Given the description of an element on the screen output the (x, y) to click on. 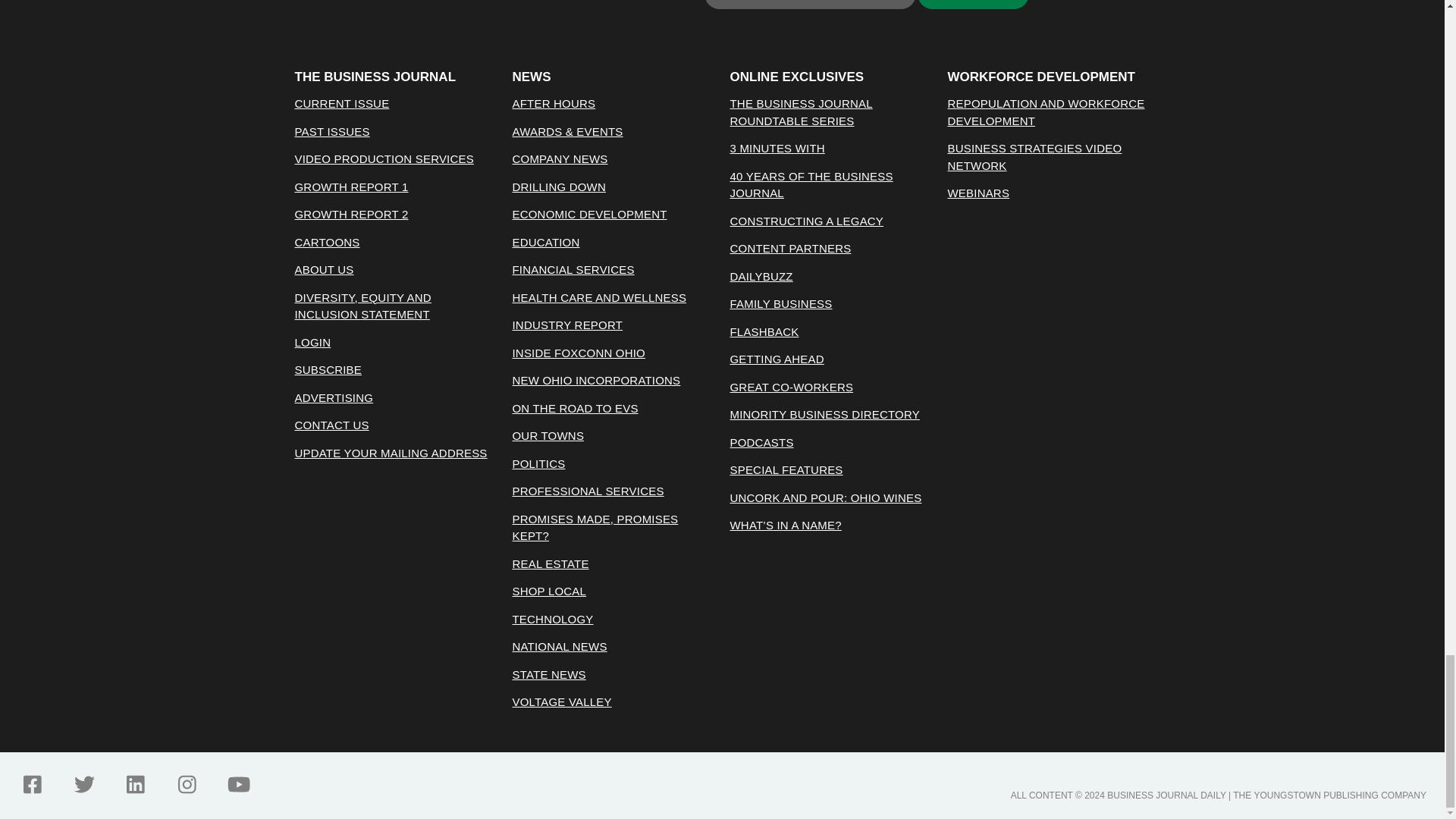
YouTube (238, 783)
Sign Up (973, 4)
Twitter (84, 783)
